Given the description of an element on the screen output the (x, y) to click on. 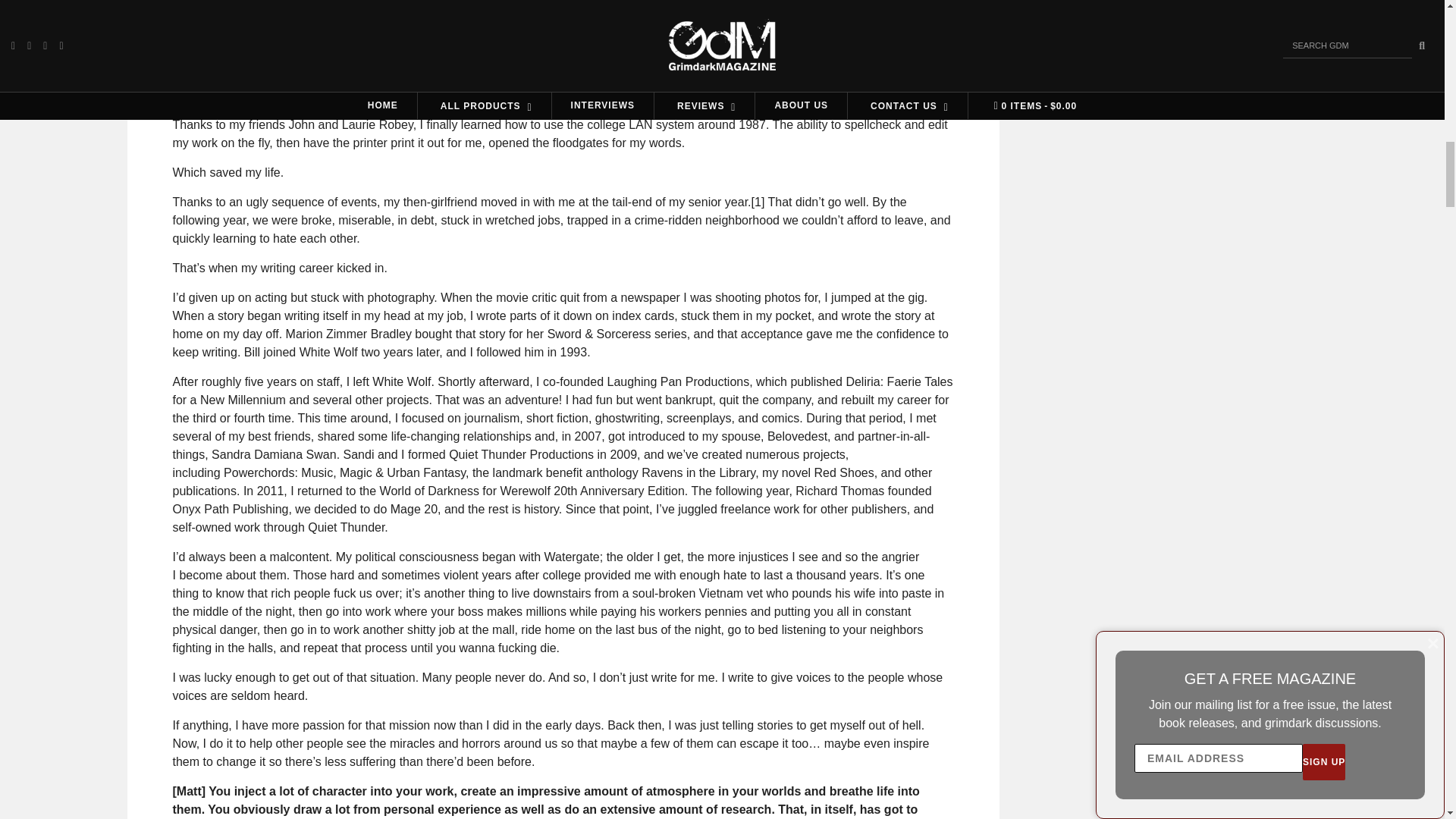
Sign up (1232, 72)
